Given the description of an element on the screen output the (x, y) to click on. 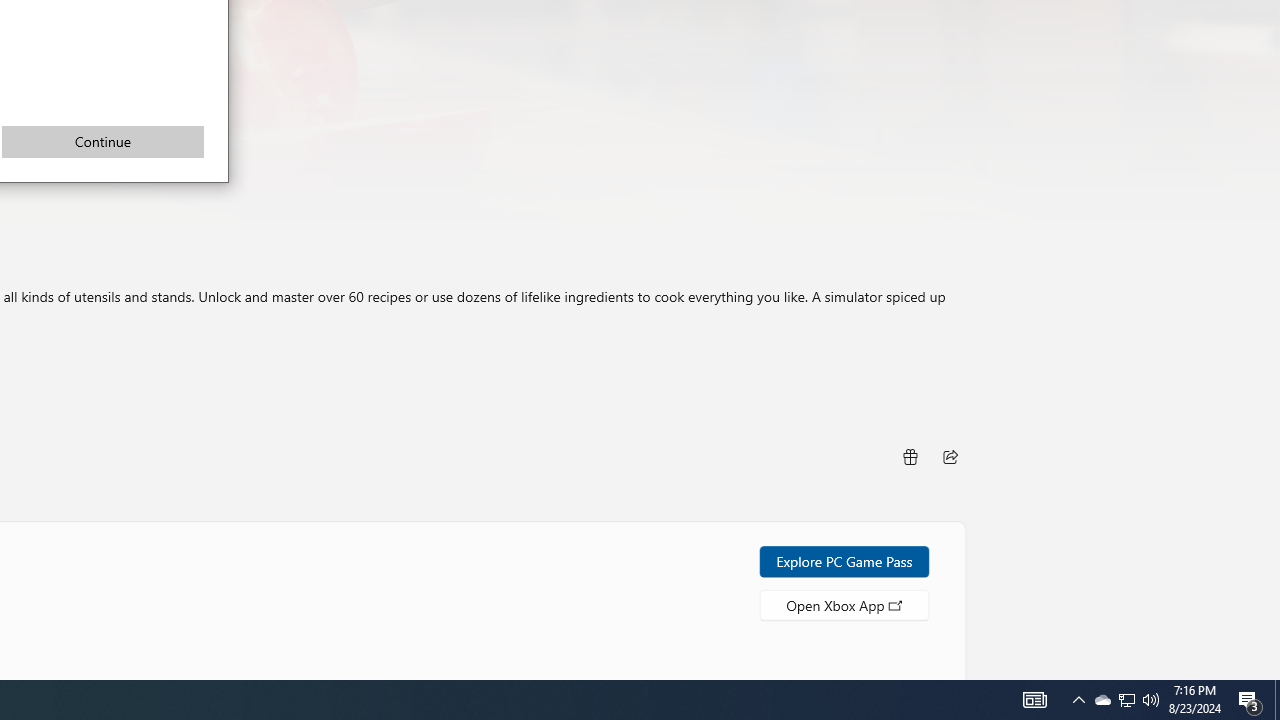
Notification Chevron (1126, 699)
Show desktop (1078, 699)
Explore PC Game Pass (1277, 699)
Open Xbox App (844, 560)
Q2790: 100% (844, 603)
AutomationID: 4105 (1151, 699)
Action Center, 3 new notifications (1034, 699)
Continue (1250, 699)
User Promoted Notification Area (102, 141)
Buy as gift (1126, 699)
Share (909, 456)
